Given the description of an element on the screen output the (x, y) to click on. 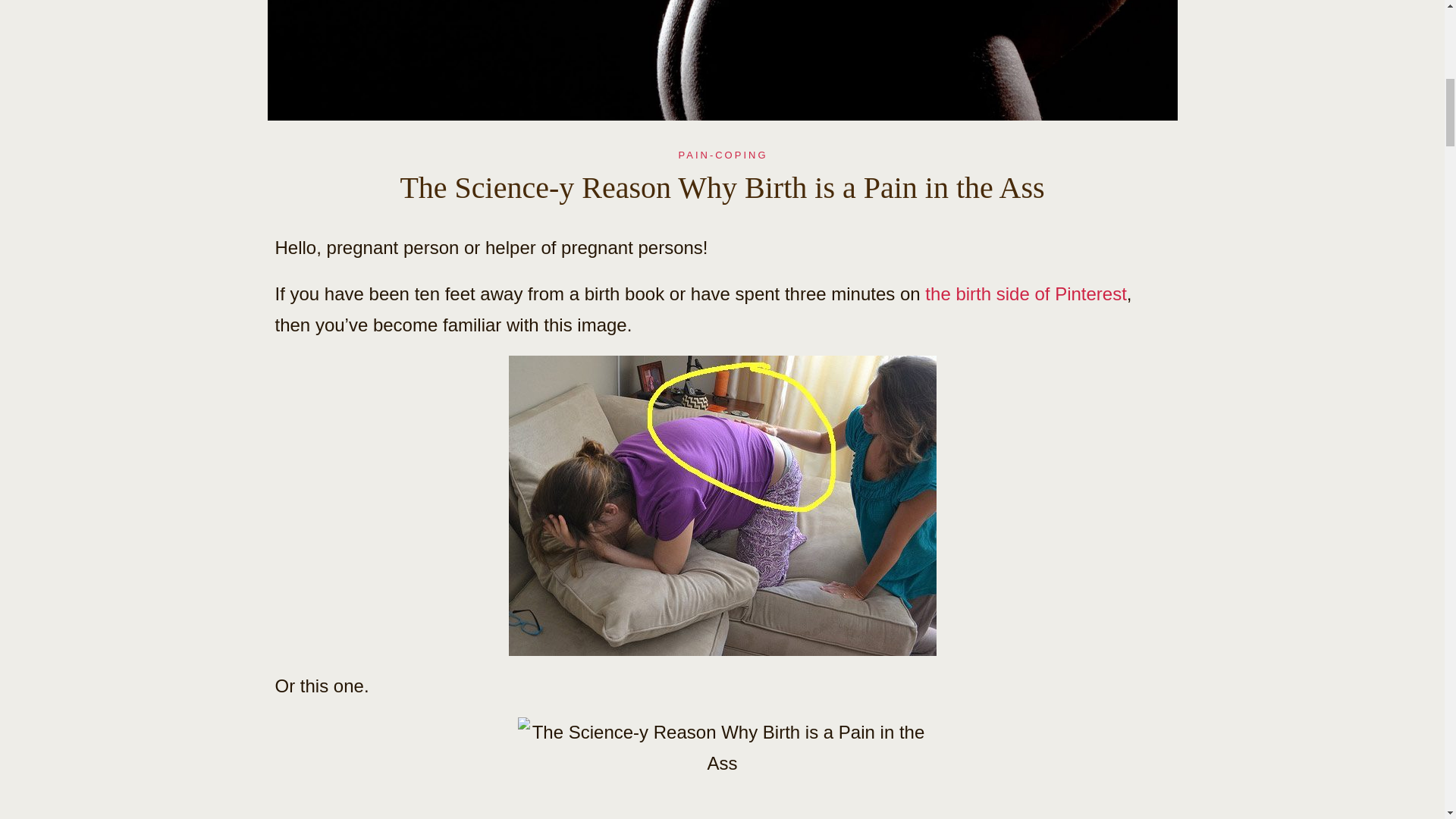
PAIN-COPING (722, 154)
the birth side of Pinterest (1024, 293)
